Given the description of an element on the screen output the (x, y) to click on. 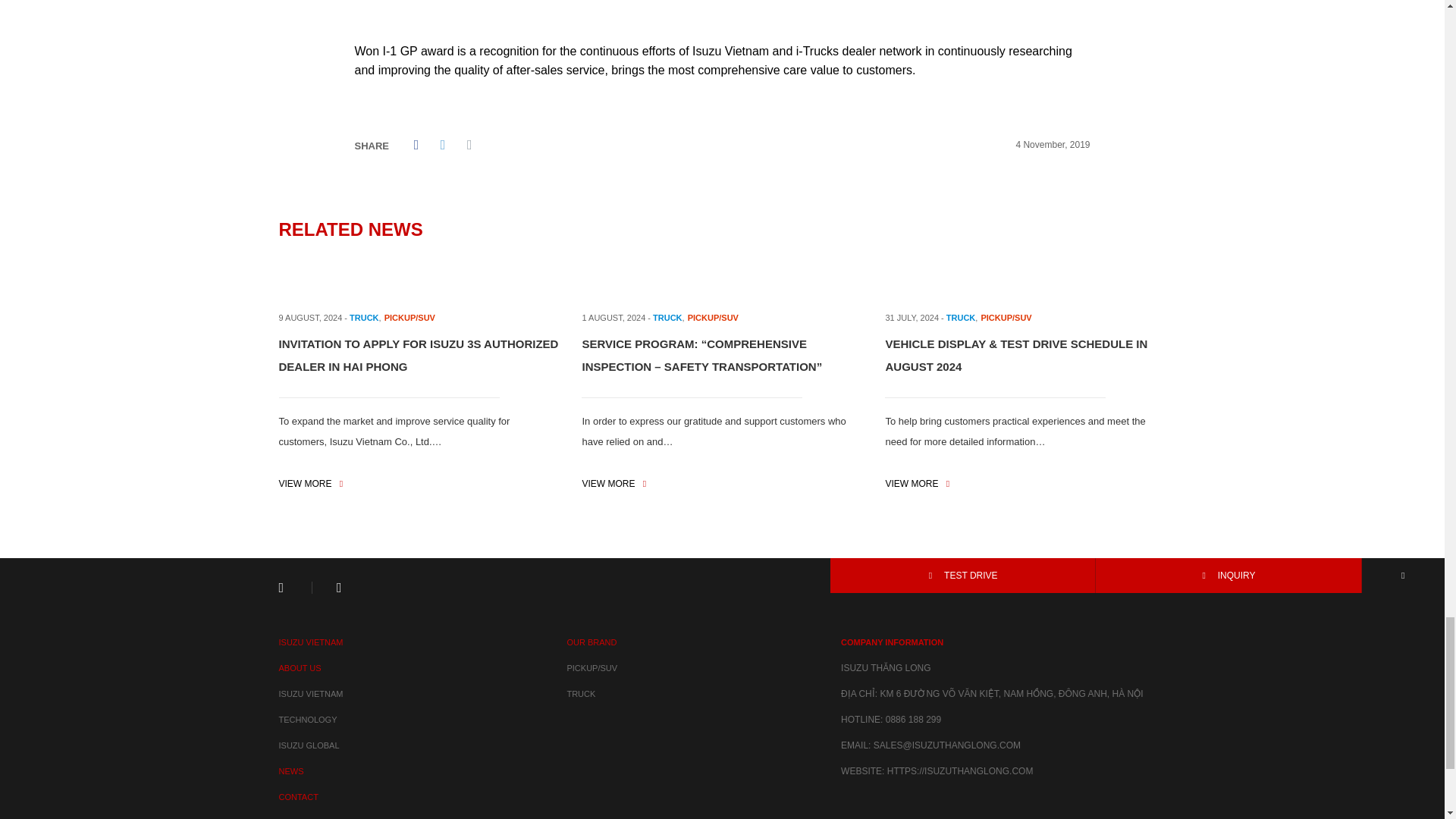
TRUCK (667, 317)
VIEW MORE (311, 483)
VIEW MORE (613, 483)
TRUCK (363, 317)
